Given the description of an element on the screen output the (x, y) to click on. 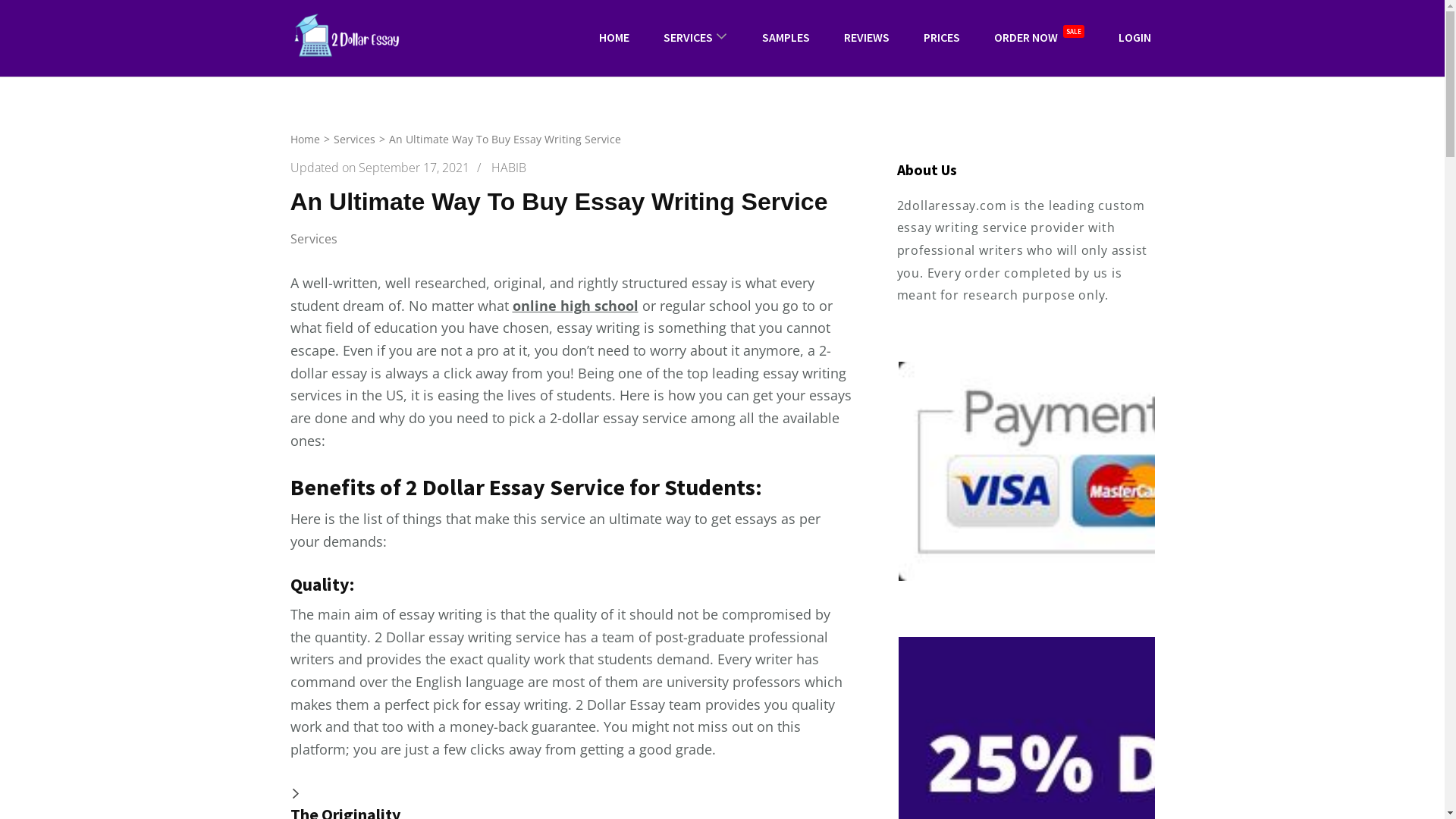
Services Element type: text (324, 238)
September 17, 2021 Element type: text (412, 167)
online high school Element type: text (575, 305)
LOGIN Element type: text (1134, 37)
SAMPLES Element type: text (785, 37)
SERVICES Element type: text (687, 37)
Home Element type: text (304, 138)
HABIB Element type: text (508, 167)
HOME Element type: text (613, 37)
REVIEWS Element type: text (866, 37)
ORDER NOW SALE Element type: text (1039, 38)
Services Element type: text (354, 138)
PRICES Element type: text (941, 37)
